Given the description of an element on the screen output the (x, y) to click on. 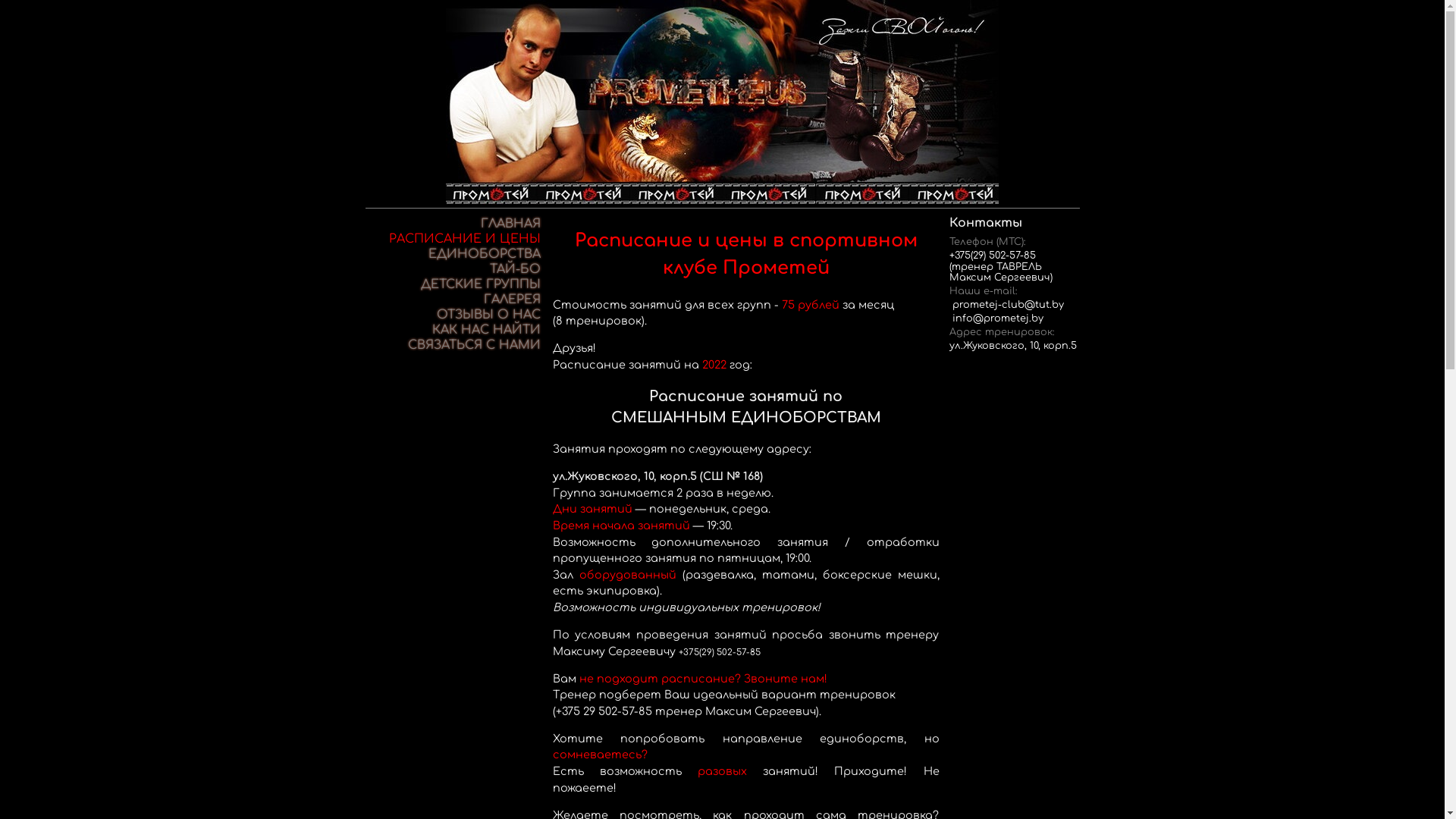
 info@prometej.by  Element type: text (997, 318)
 prometej-club@tut.by  Element type: text (1007, 304)
